Given the description of an element on the screen output the (x, y) to click on. 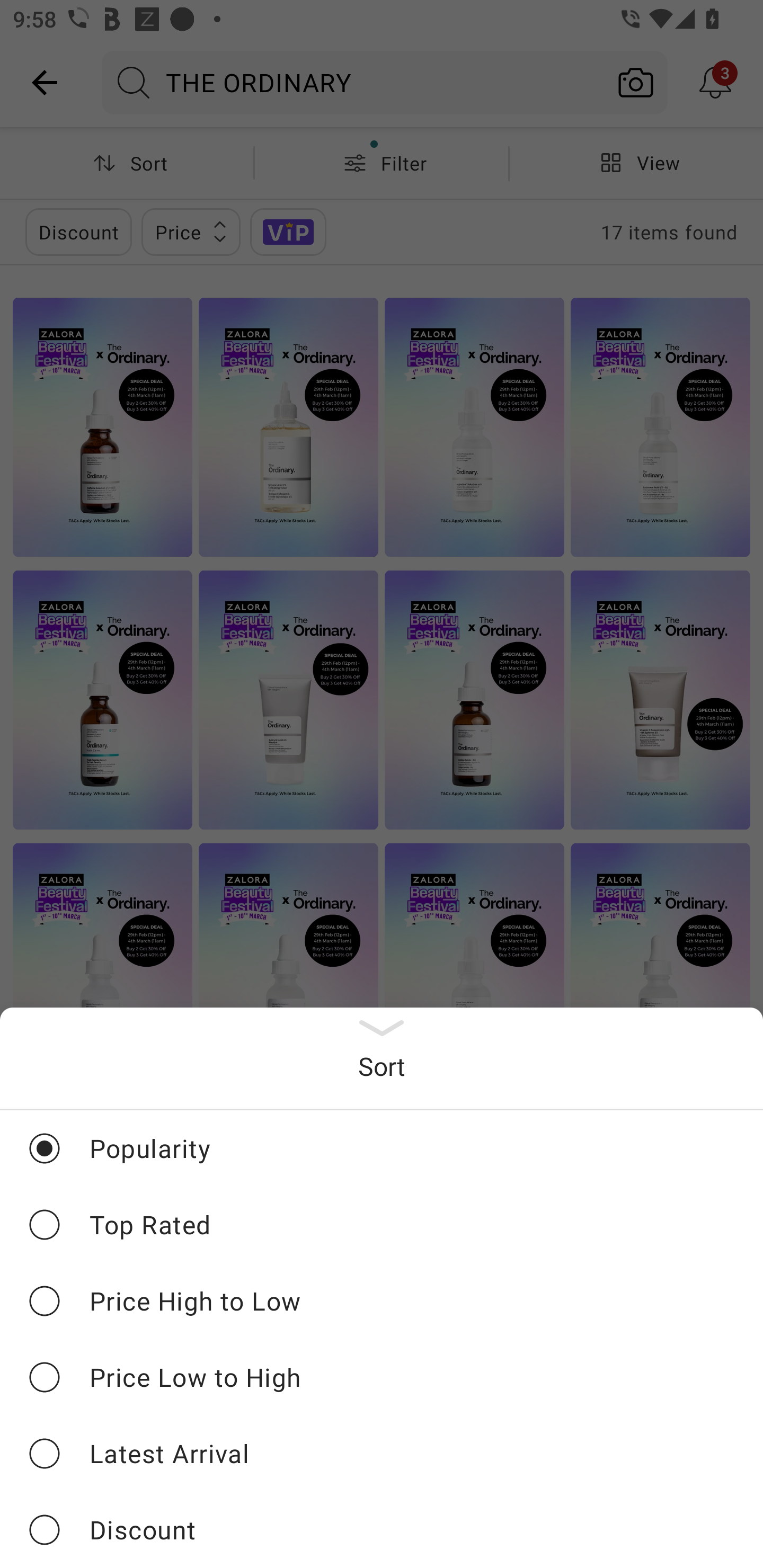
Popularity (381, 1148)
Top Rated (381, 1224)
Price High to Low (381, 1300)
Price Low to High (381, 1377)
Latest Arrival (381, 1453)
Discount (381, 1529)
